Given the description of an element on the screen output the (x, y) to click on. 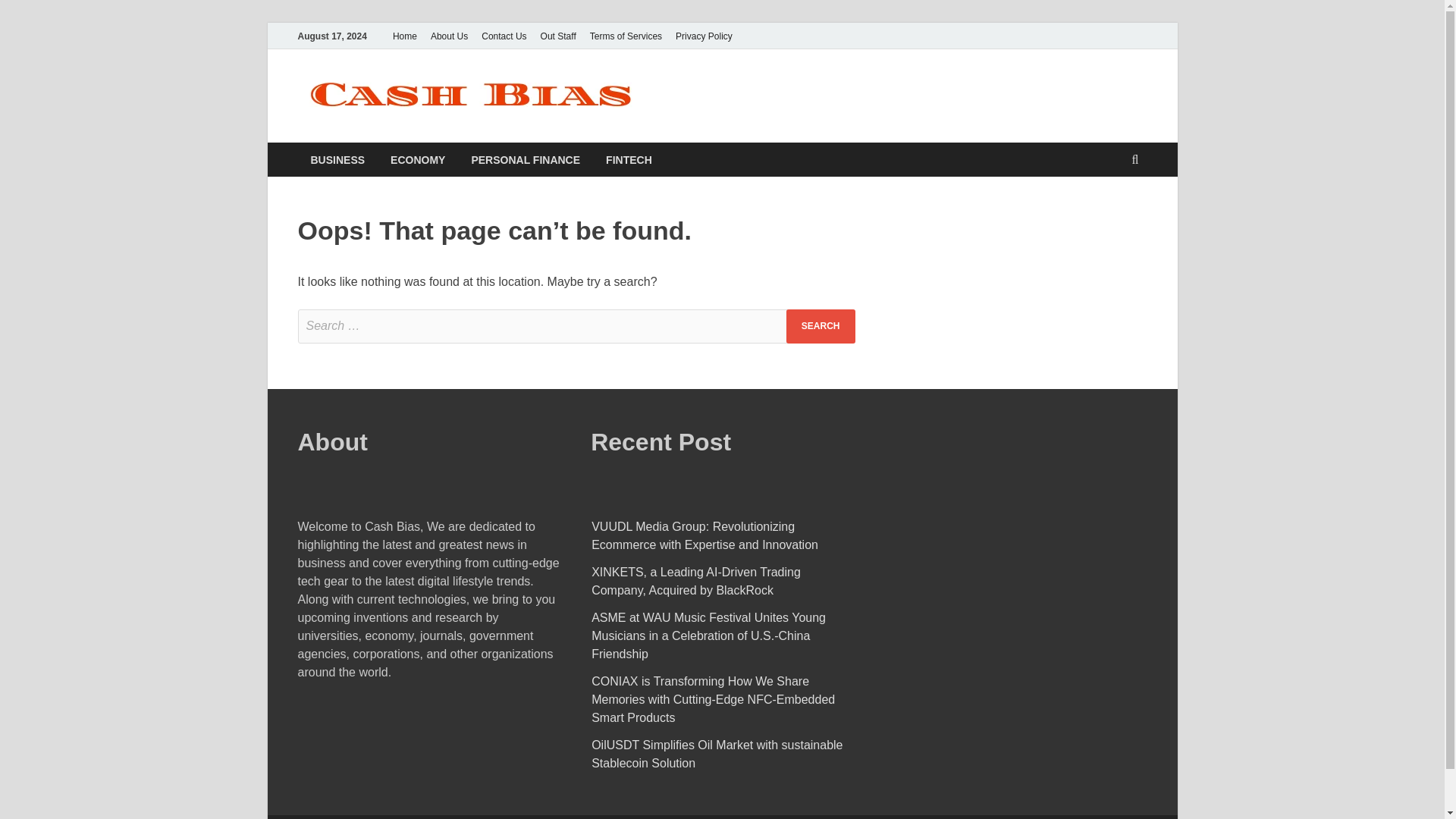
Search (821, 326)
Search (821, 326)
Home (404, 35)
FINTECH (628, 159)
PERSONAL FINANCE (525, 159)
Privacy Policy (703, 35)
Out Staff (558, 35)
